Given the description of an element on the screen output the (x, y) to click on. 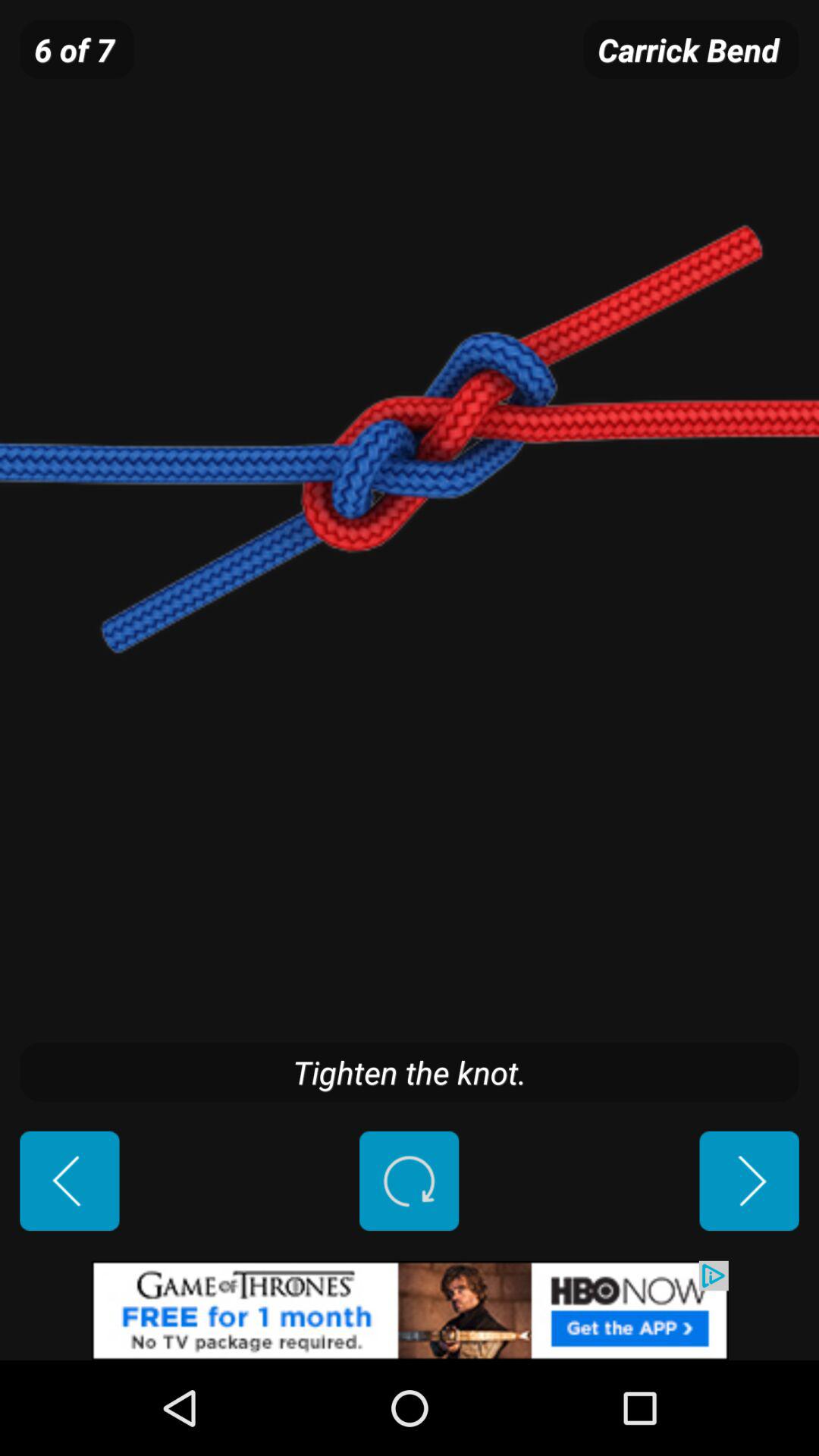
back the option (69, 1180)
